Given the description of an element on the screen output the (x, y) to click on. 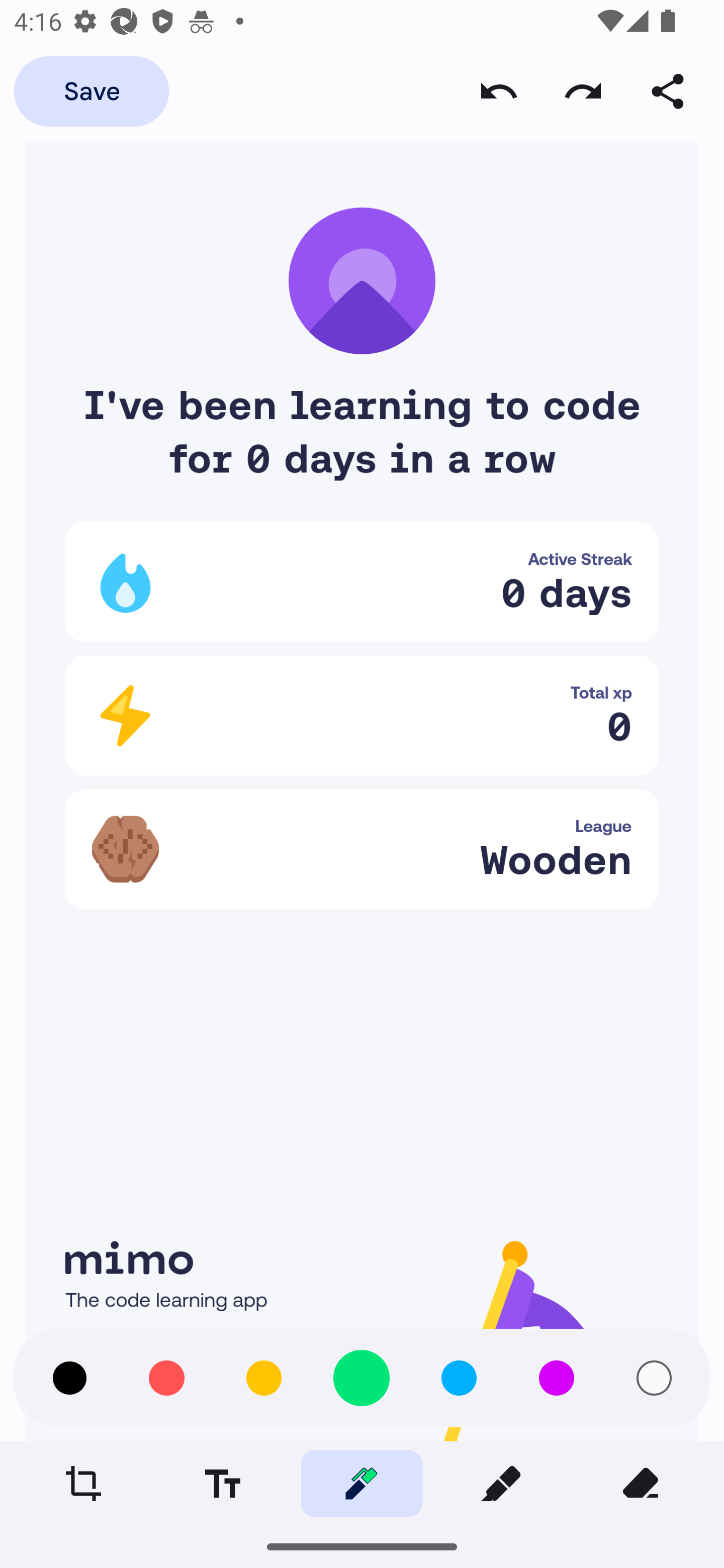
Save (90, 90)
Undo (498, 90)
Redo (582, 90)
Share (667, 90)
Black (69, 1377)
Red (166, 1377)
Yellow (263, 1377)
Blue (458, 1377)
Purple (556, 1377)
White (654, 1377)
Crop (82, 1482)
Text (221, 1482)
Highlighter (500, 1482)
Eraser (640, 1482)
